Given the description of an element on the screen output the (x, y) to click on. 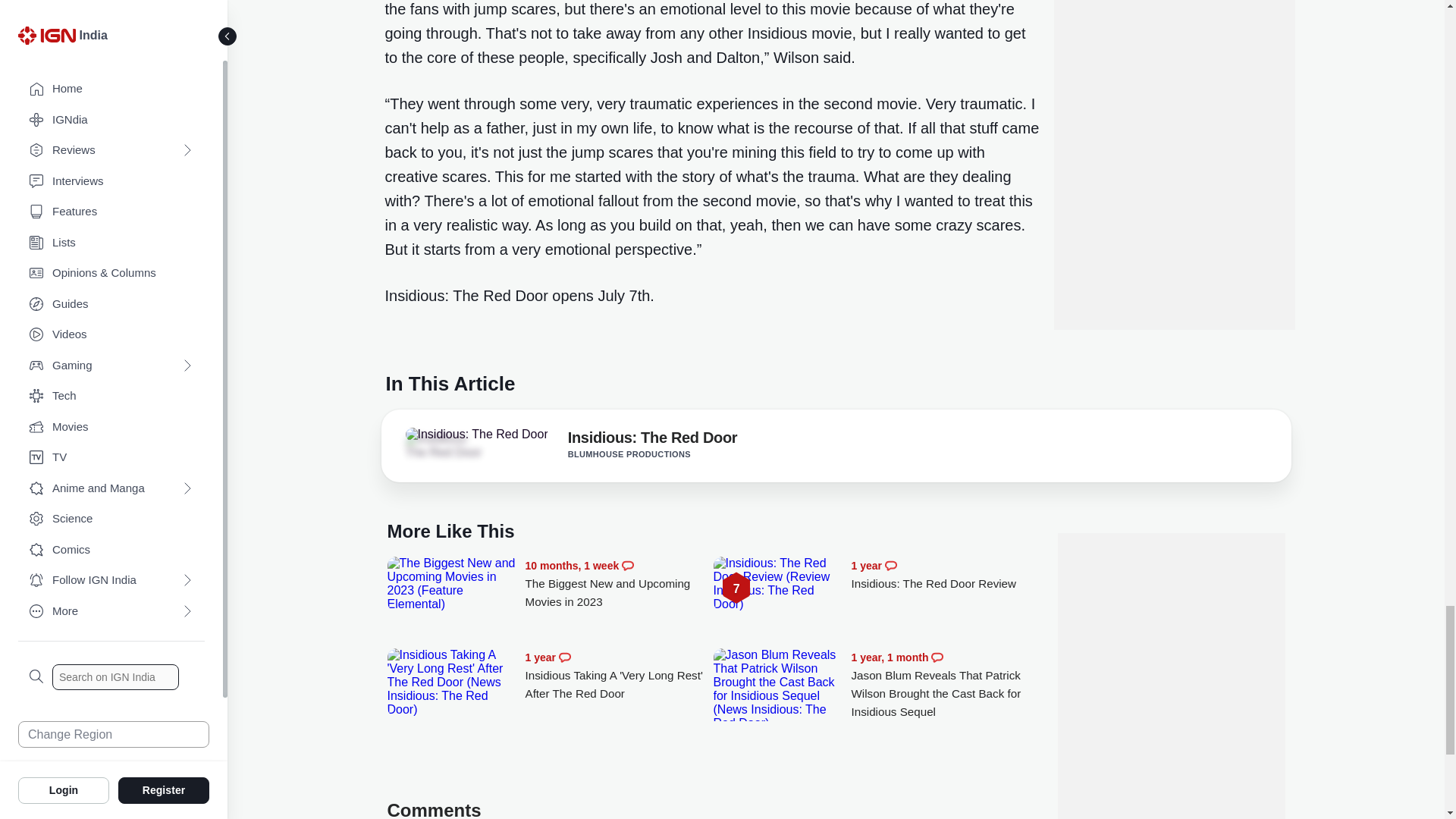
Insidious: The Red Door Review (778, 583)
Insidious: The Red Door (475, 434)
The Biggest New and Upcoming Movies in 2023 (451, 583)
Insidious: The Red Door (448, 445)
Insidious Taking A 'Very Long Rest' After The Red Door (451, 681)
The Biggest New and Upcoming Movies in 2023 (618, 583)
Insidious Taking A 'Very Long Rest' After The Red Door (618, 674)
Insidious: The Red Door (652, 440)
Insidious: The Red Door Review (944, 574)
